Given the description of an element on the screen output the (x, y) to click on. 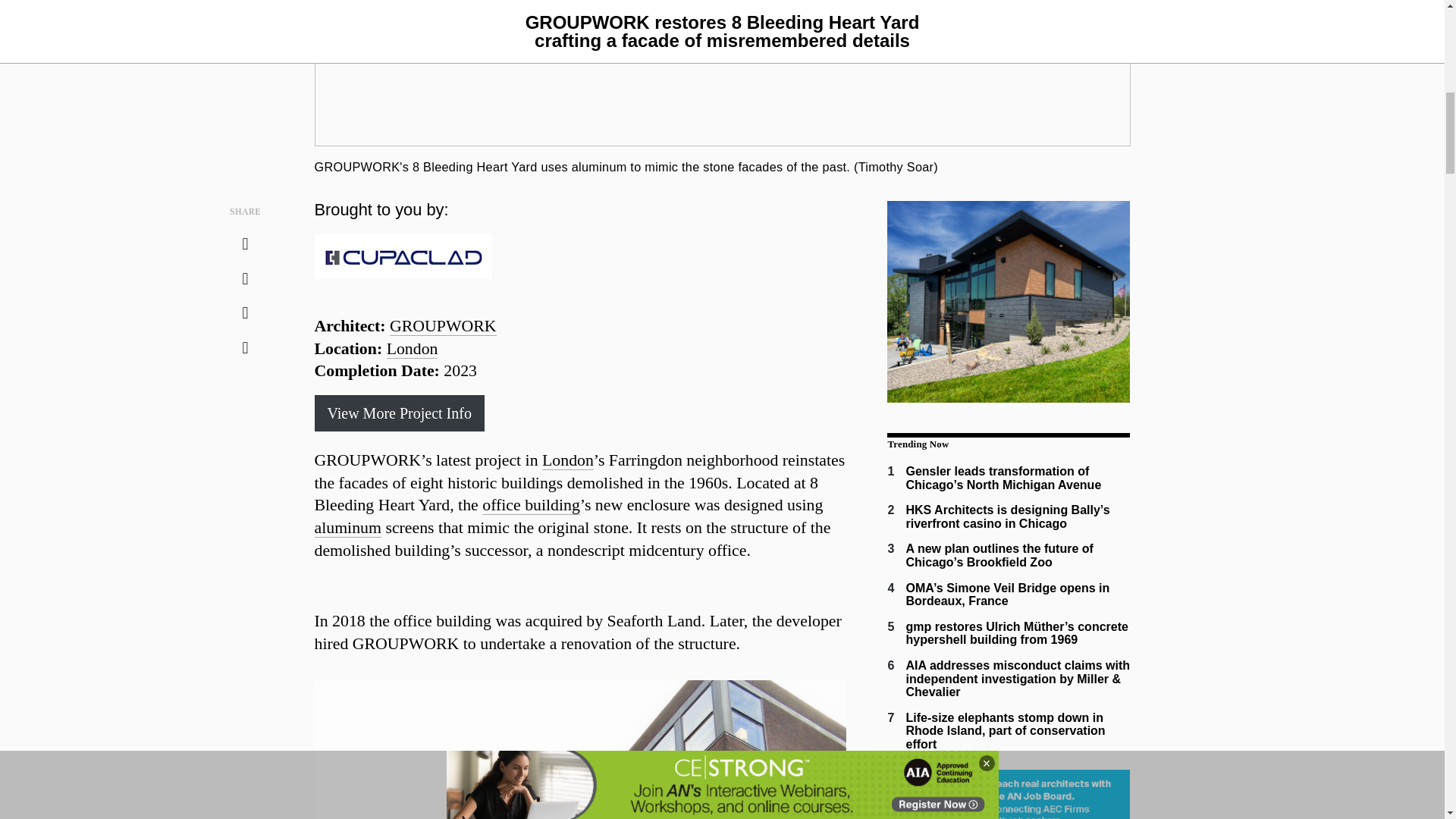
253 visitors in 24 hours (1005, 731)
613 visitors in 24 hours (1007, 594)
2,955 visitors in 24 hours (1002, 478)
764 visitors in 24 hours (999, 555)
325 visitors in 24 hours (1015, 633)
982 visitors in 24 hours (1007, 516)
275 visitors in 24 hours (1017, 678)
